Given the description of an element on the screen output the (x, y) to click on. 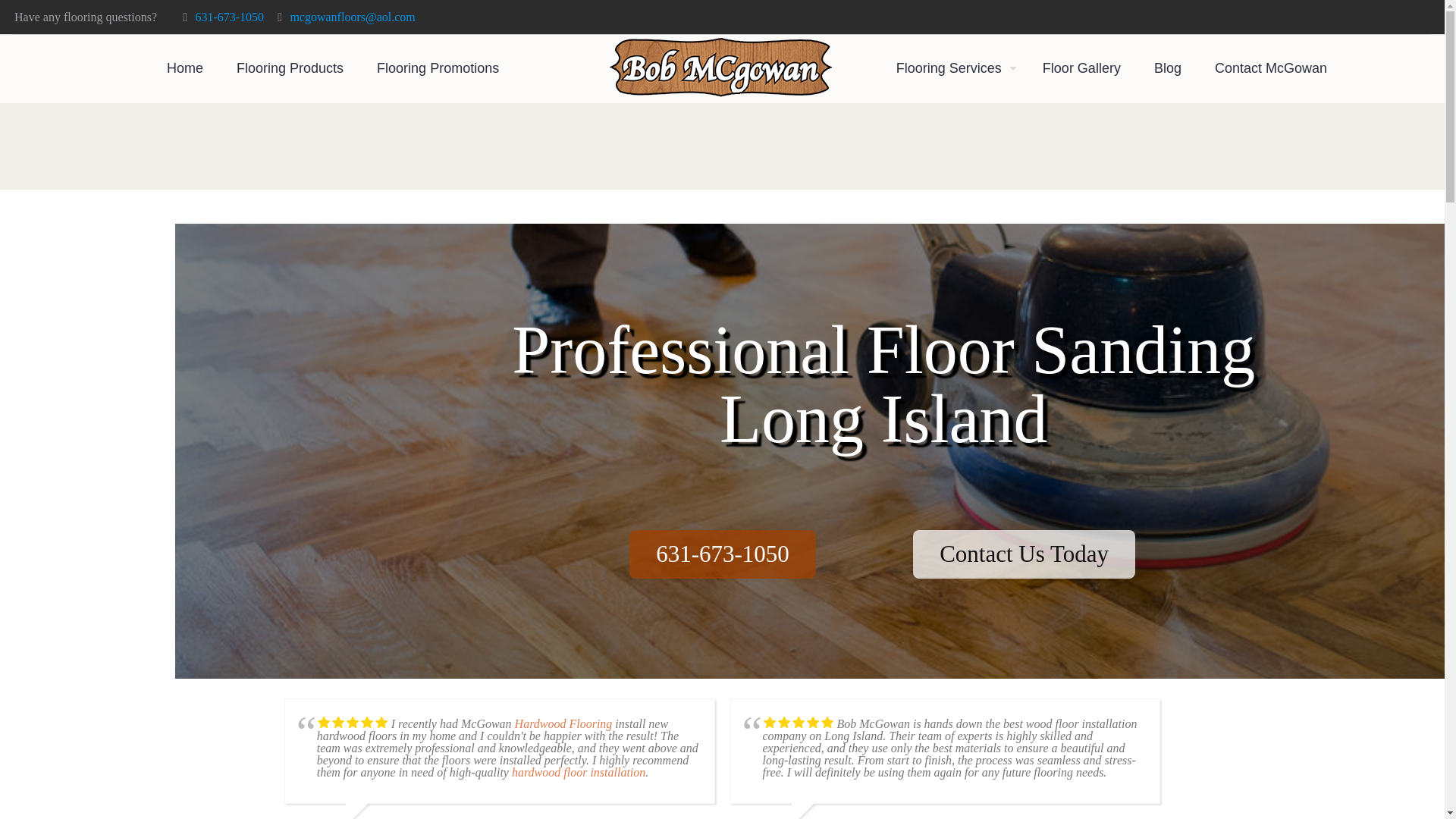
Floor Gallery (1081, 68)
McGowan Hardwood Flooring (721, 83)
Flooring Promotions (437, 68)
Contact McGowan (1270, 68)
Flooring Services (952, 68)
Hardwood Flooring (563, 723)
Home (184, 68)
Flooring Products (289, 68)
631-673-1050 (229, 16)
hardwood floor installation (578, 771)
